Given the description of an element on the screen output the (x, y) to click on. 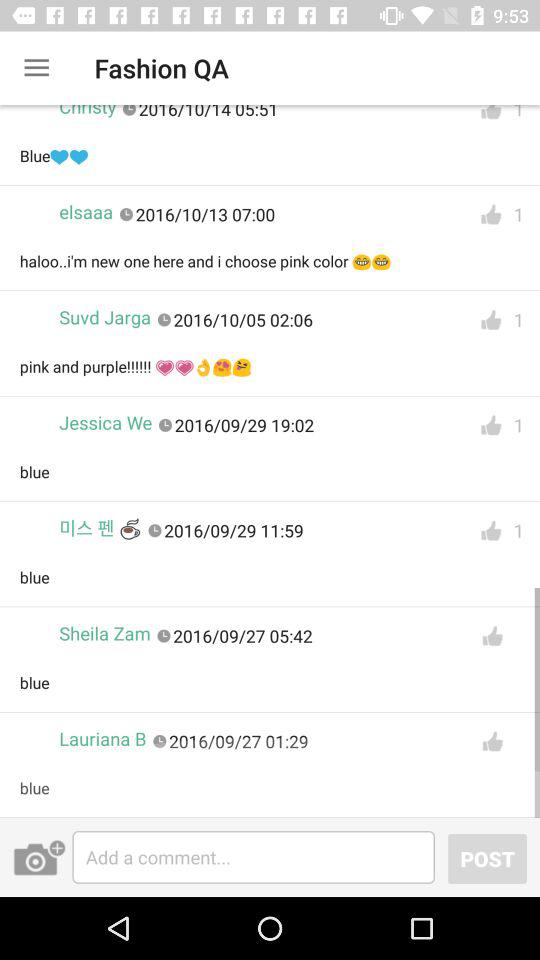
turn on the item above blue item (100, 528)
